Given the description of an element on the screen output the (x, y) to click on. 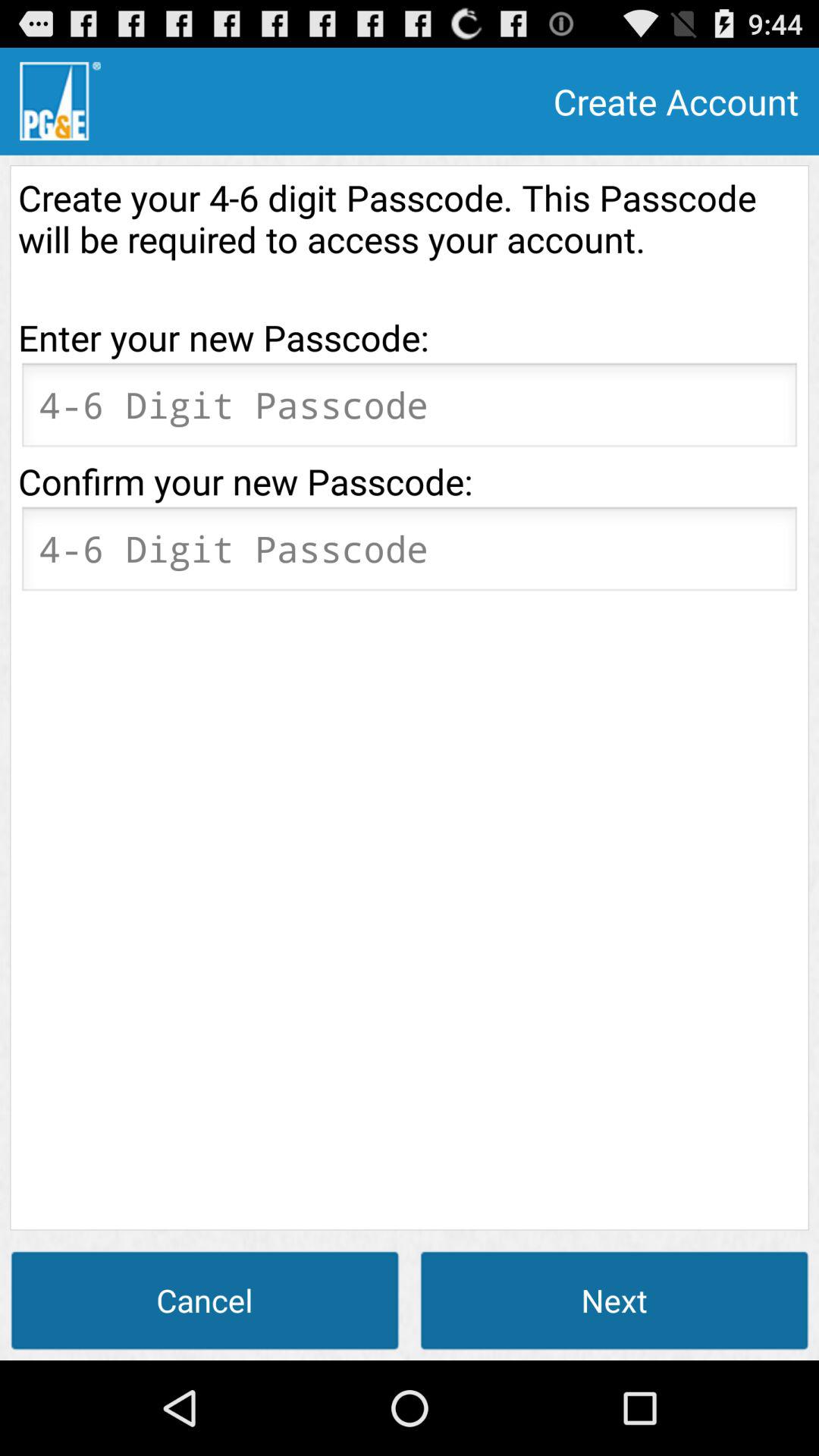
turn on button at the bottom left corner (204, 1300)
